Given the description of an element on the screen output the (x, y) to click on. 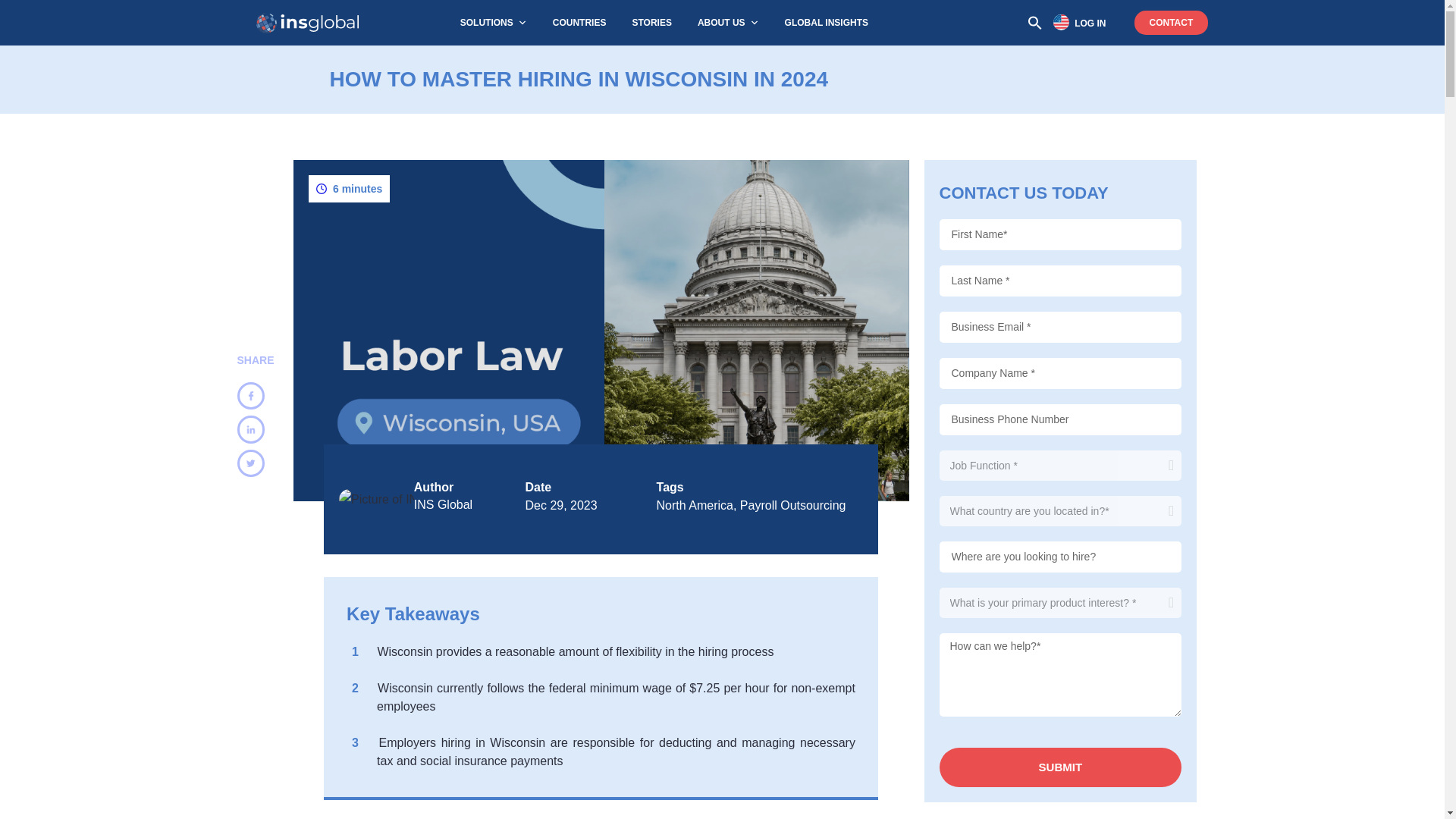
COUNTRIES (579, 22)
GLOBAL INSIGHTS (825, 22)
ABOUT US (728, 22)
STORIES (651, 22)
SOLUTIONS (493, 22)
